Given the description of an element on the screen output the (x, y) to click on. 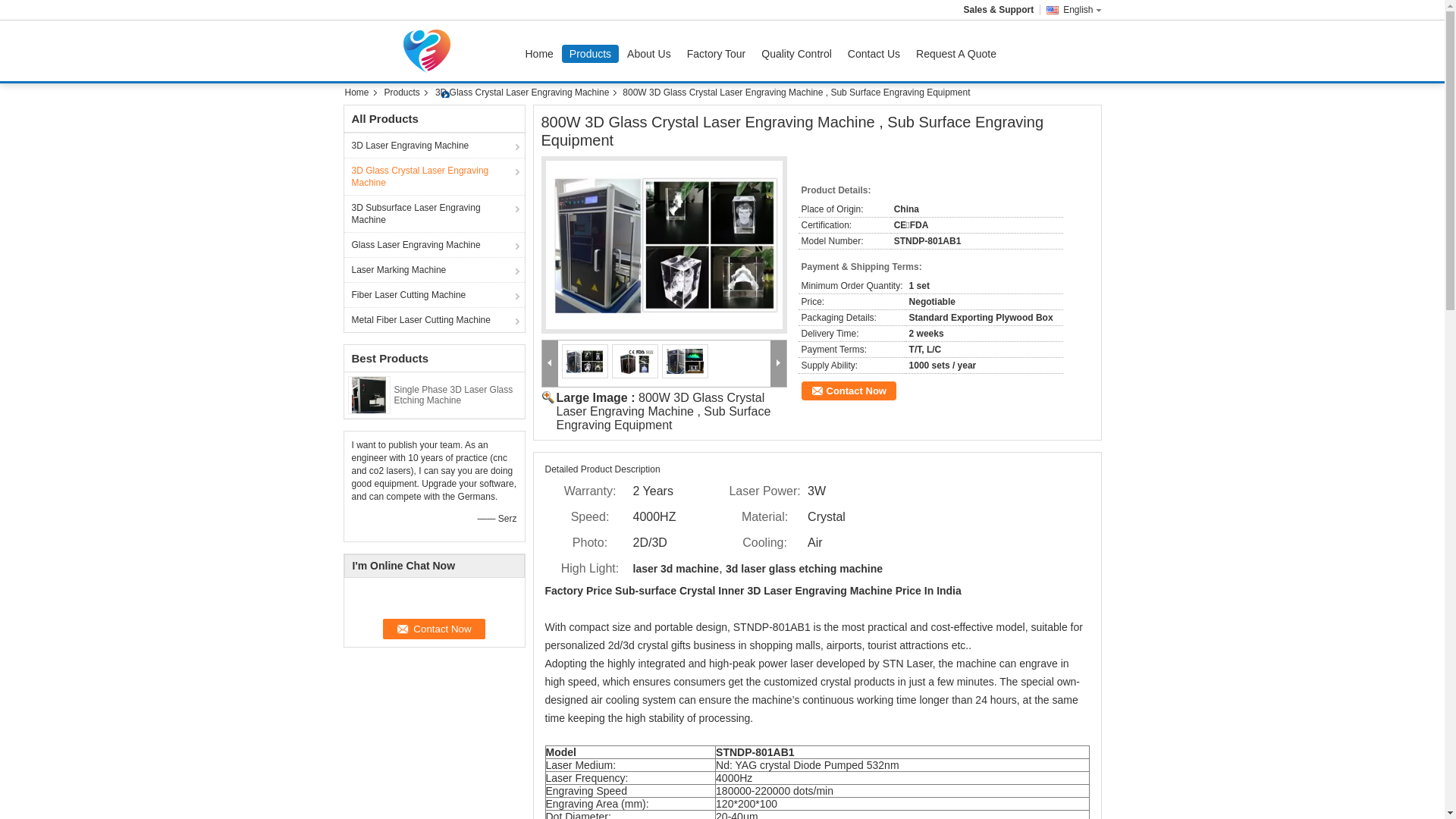
Request A Quote Element type: text (956, 53)
Laser Marking Machine Element type: text (434, 269)
Home Element type: text (360, 92)
3D Laser Engraving Machine Element type: text (434, 144)
China 3D Laser Engraving Machine manufacturer Element type: hover (429, 50)
Home Element type: text (538, 53)
 Single Phase 3D Laser Glass Etching Machine Element type: hover (368, 393)
Products Element type: text (403, 92)
Contact Now Element type: text (847, 390)
Metal Fiber Laser Cutting Machine Element type: text (434, 319)
3D Glass Crystal Laser Engraving Machine Element type: text (434, 175)
Quality Control Element type: text (796, 53)
Request A Quote Element type: text (956, 53)
3D Subsurface Laser Engraving Machine Element type: text (434, 213)
Single Phase 3D Laser Glass Etching Machine Element type: text (453, 394)
Contact Us Element type: text (873, 53)
Products Element type: text (589, 53)
Contact Now Element type: text (433, 628)
Factory Tour Element type: text (716, 53)
Glass Laser Engraving Machine Element type: text (434, 244)
3D Glass Crystal Laser Engraving Machine Element type: text (523, 92)
About Us Element type: text (648, 53)
Fiber Laser Cutting Machine Element type: text (434, 294)
English Element type: text (1070, 9)
